Given the description of an element on the screen output the (x, y) to click on. 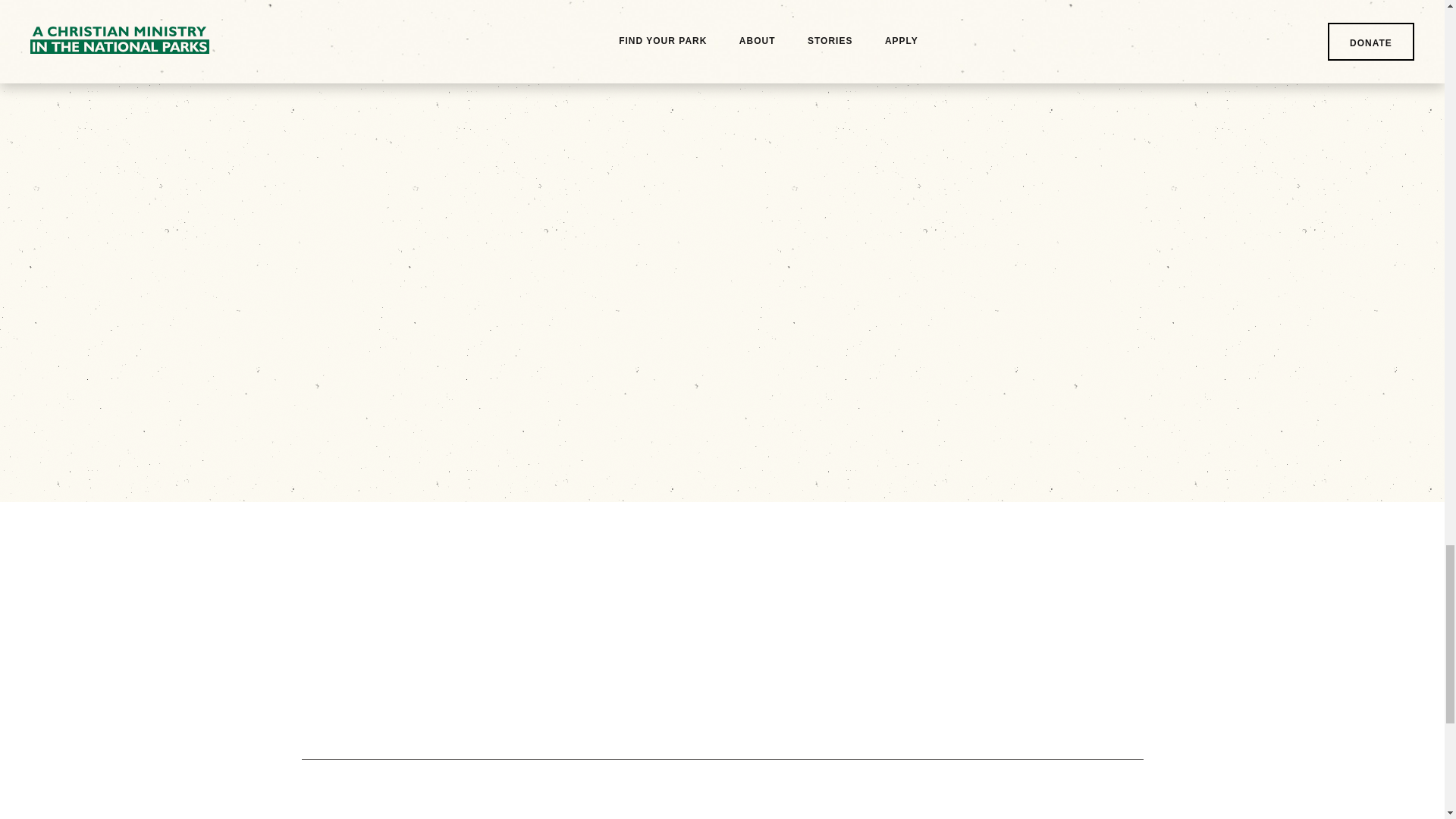
Submit (947, 416)
Subscribe (883, 671)
Subscribe (883, 671)
